Given the description of an element on the screen output the (x, y) to click on. 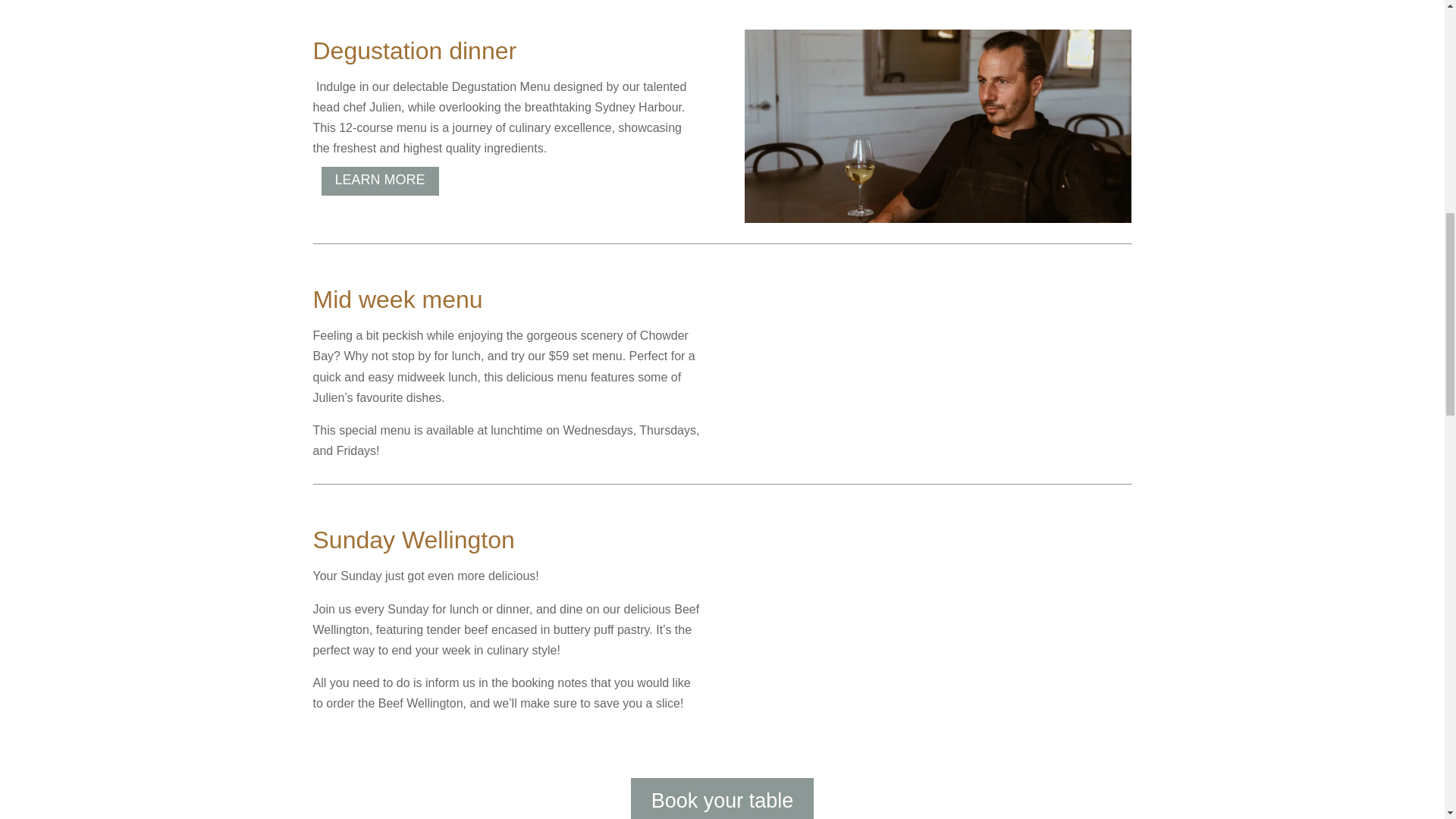
5 (937, 125)
Untitled design - 2023-08-02T163651.009 (858, 575)
